Given the description of an element on the screen output the (x, y) to click on. 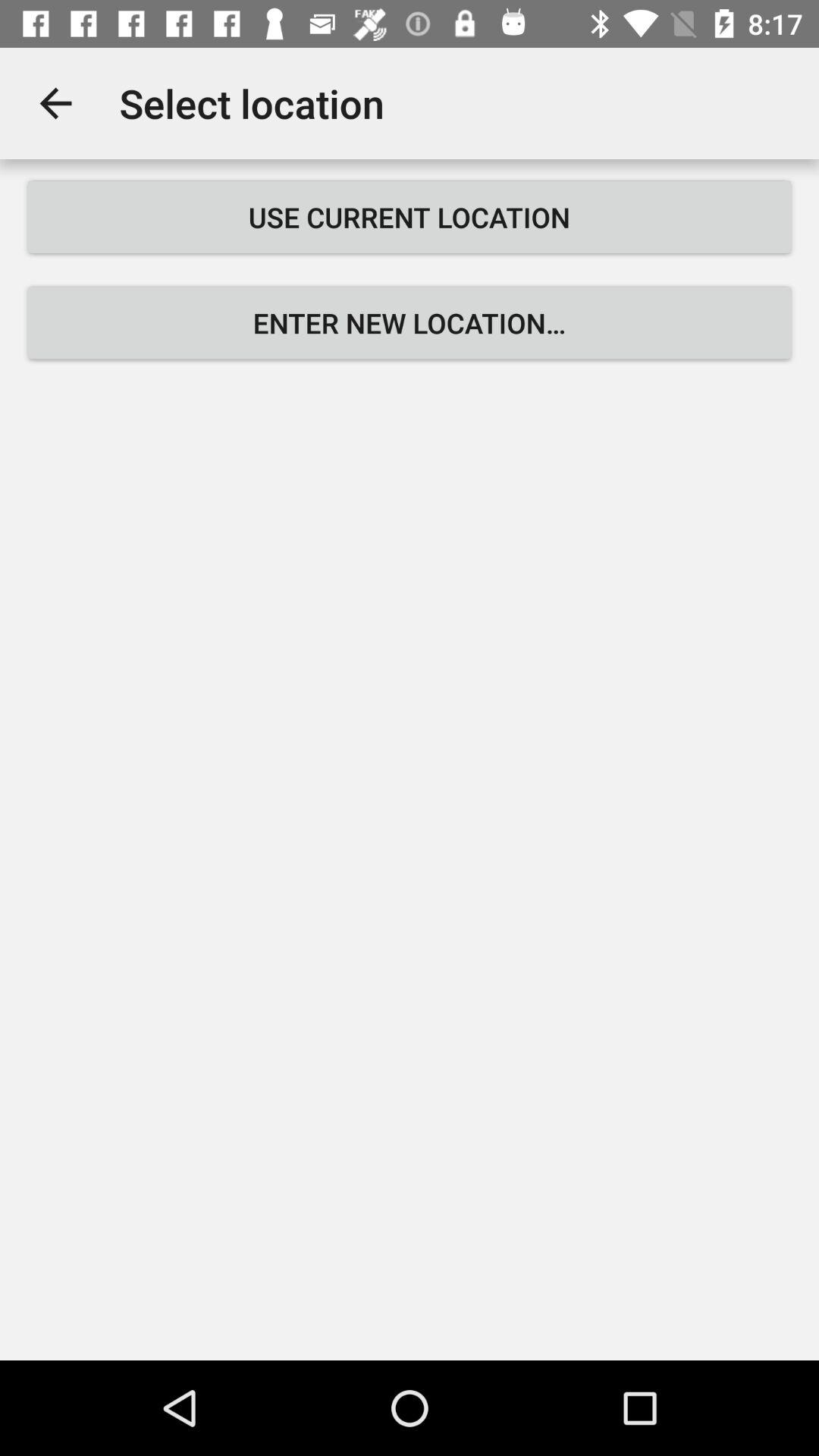
launch icon above the use current location (55, 103)
